Given the description of an element on the screen output the (x, y) to click on. 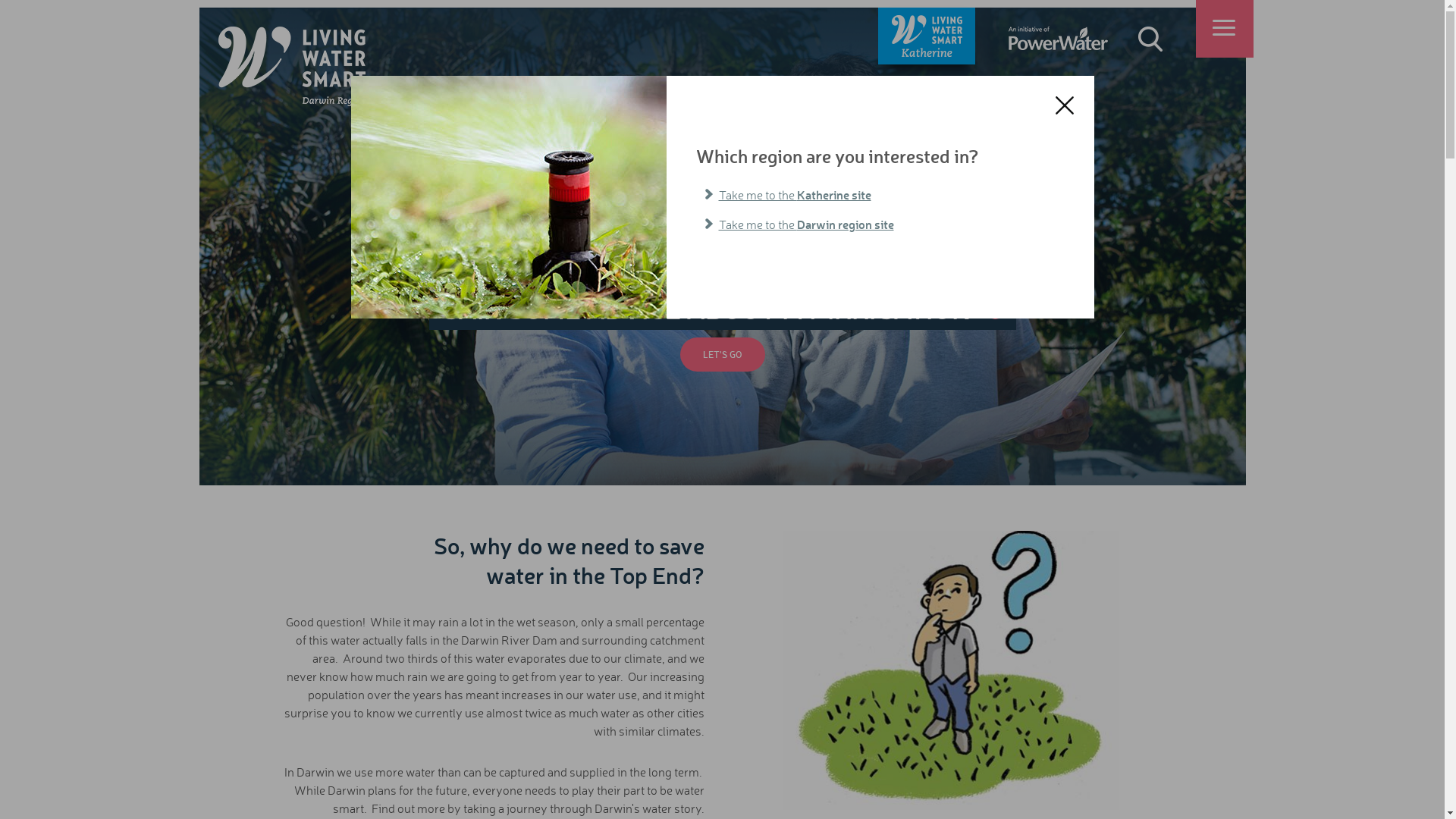
Close Element type: text (1063, 105)
Let's go Element type: text (721, 354)
Skip to main content Element type: text (0, 7)
Living Water Smart Element type: text (291, 66)
Take me to the Darwin region site Element type: text (875, 224)
Take me to the Katherine site Element type: text (875, 194)
Search Element type: text (1149, 38)
